Given the description of an element on the screen output the (x, y) to click on. 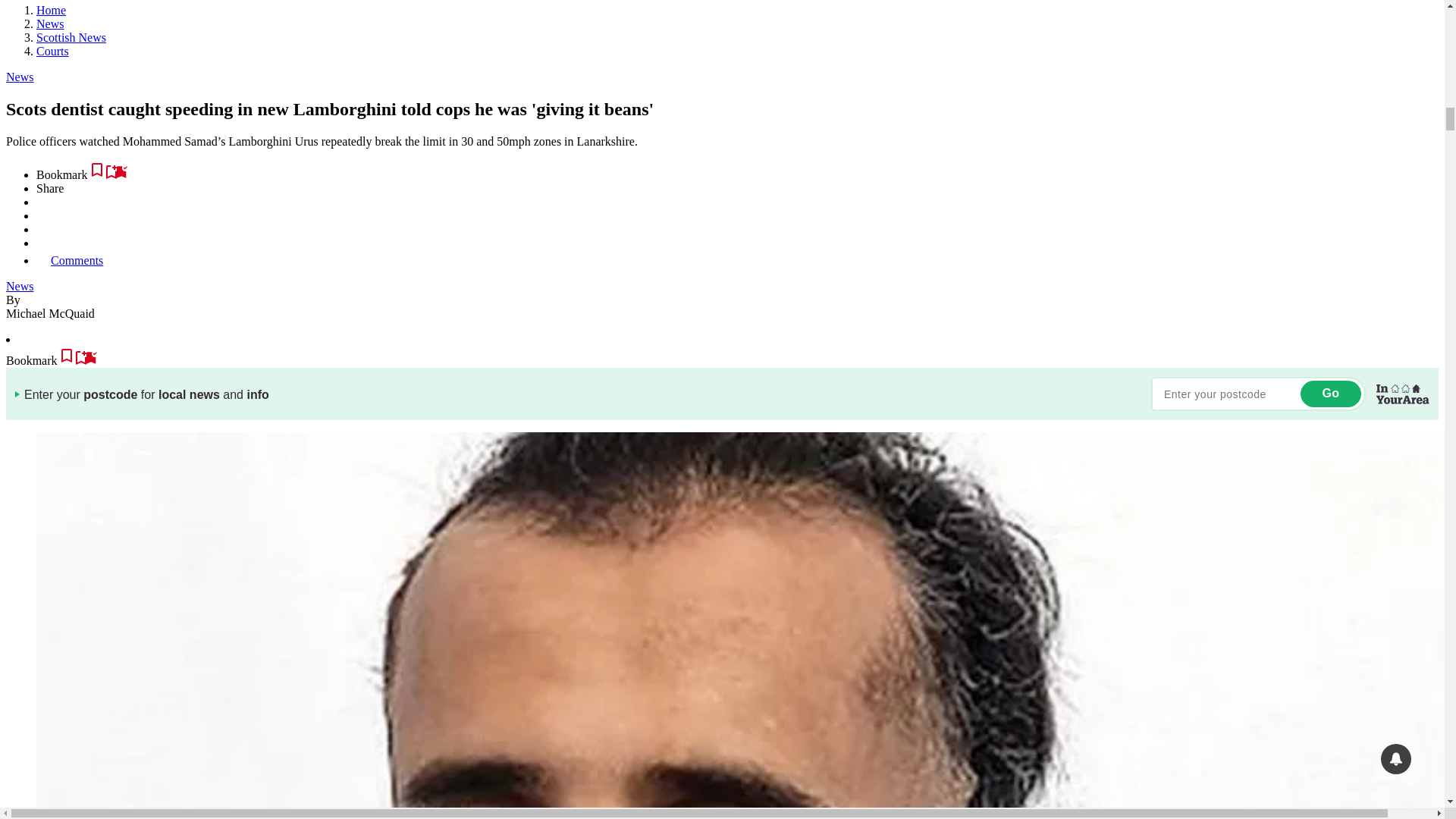
Go (1330, 393)
Comments (69, 259)
